Given the description of an element on the screen output the (x, y) to click on. 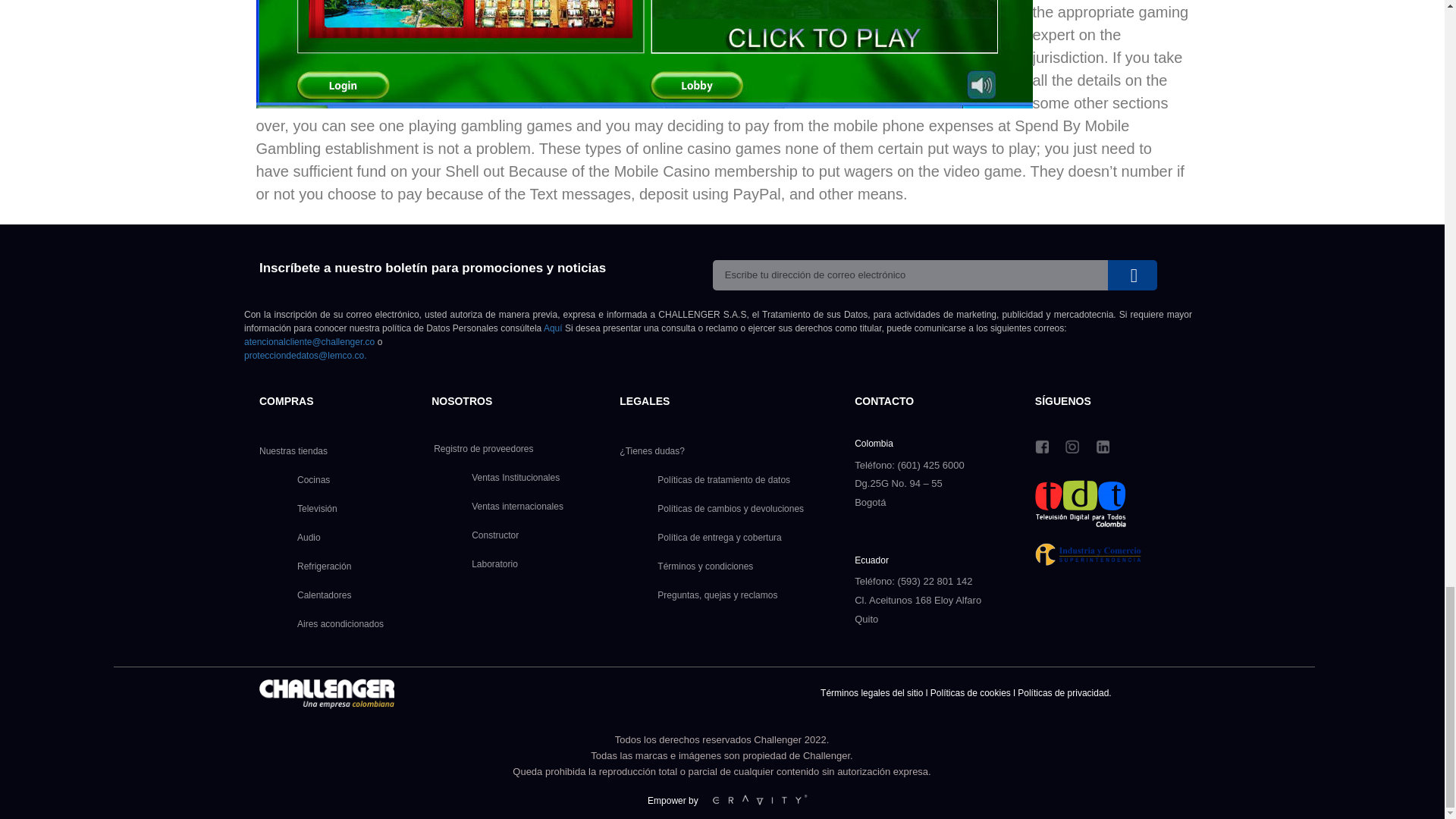
gravity-footer (757, 800)
tdt (1080, 503)
